Given the description of an element on the screen output the (x, y) to click on. 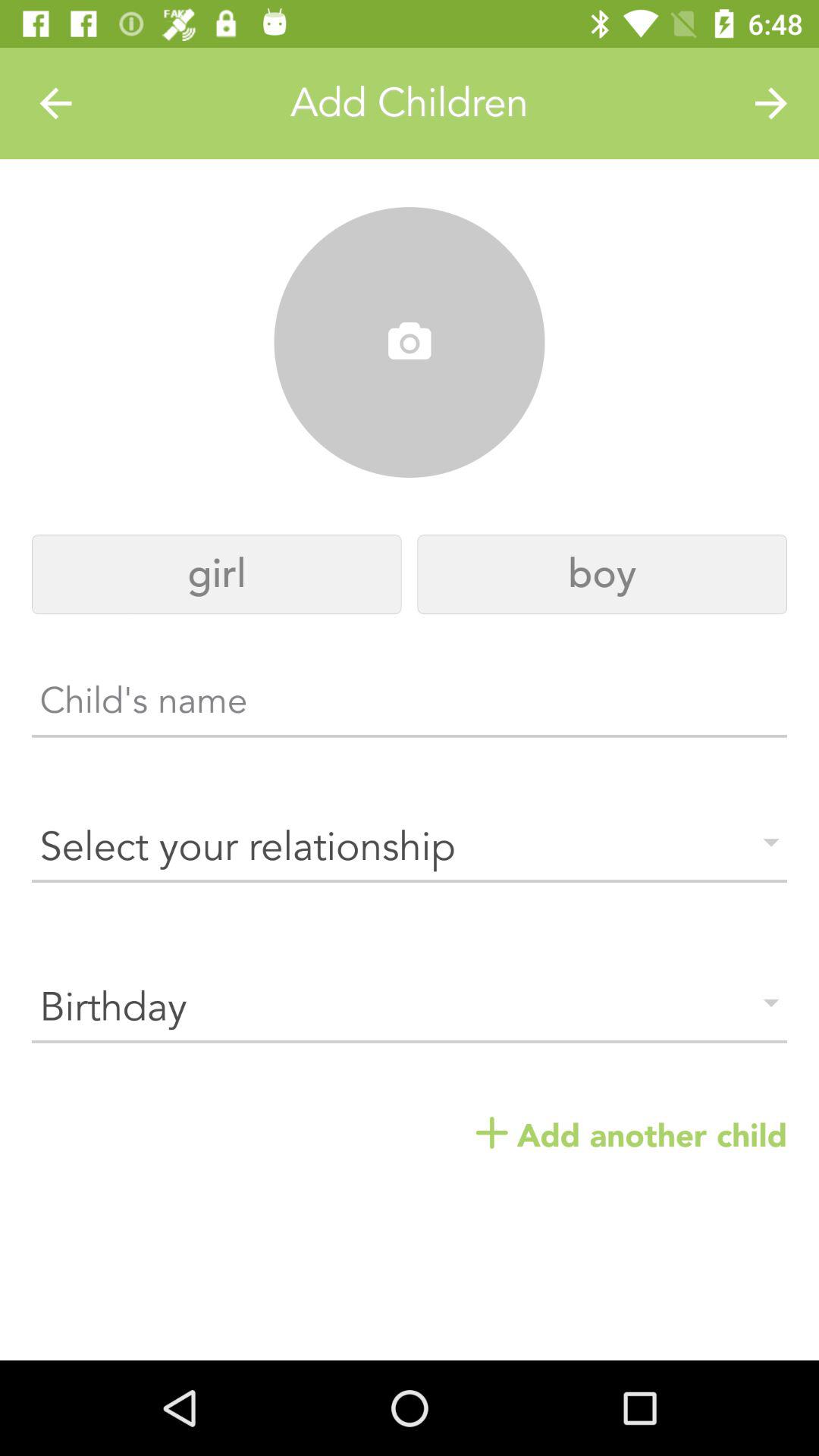
jump until the girl icon (216, 574)
